Given the description of an element on the screen output the (x, y) to click on. 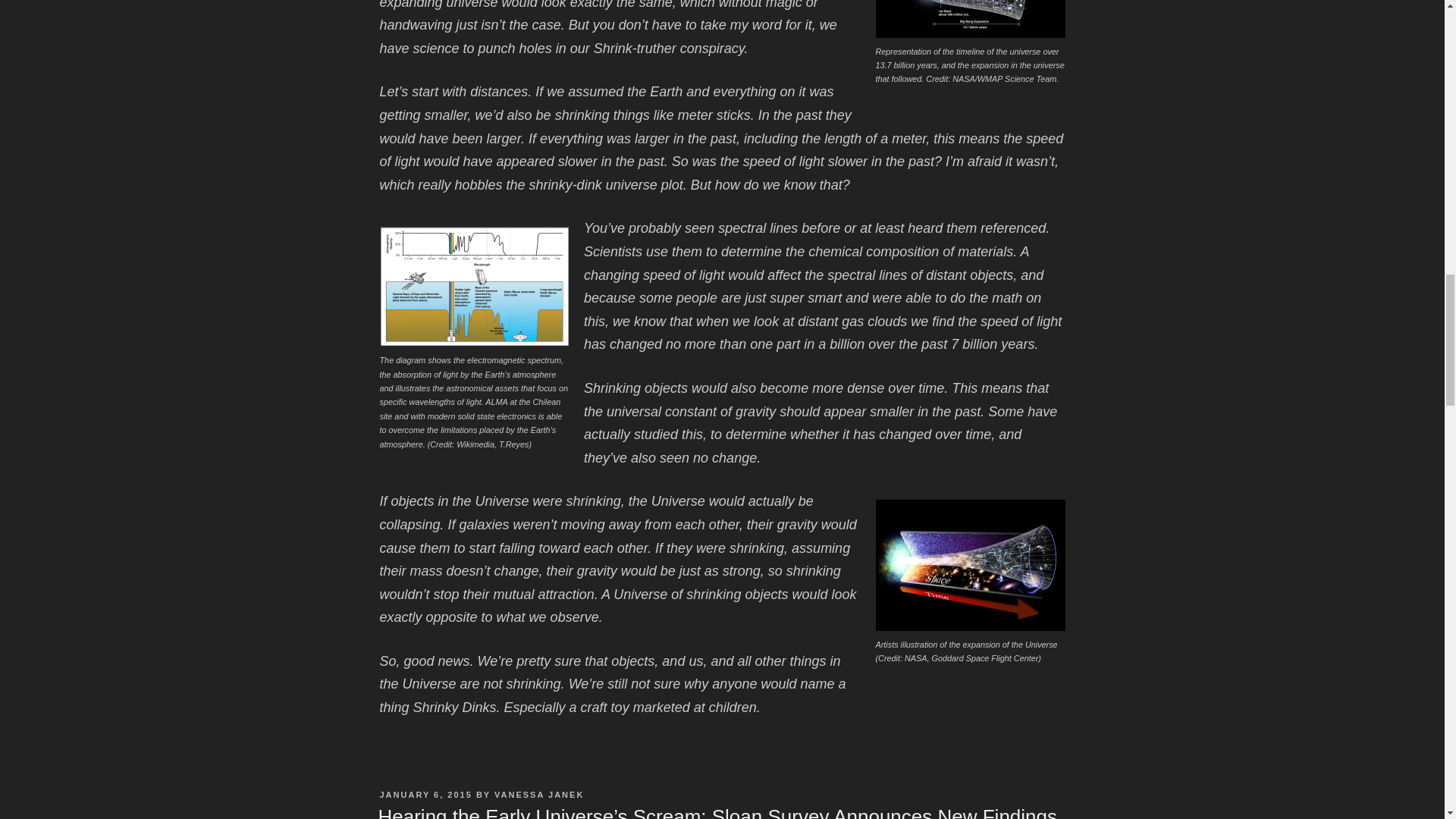
VANESSA JANEK (539, 794)
JANUARY 6, 2015 (424, 794)
